Given the description of an element on the screen output the (x, y) to click on. 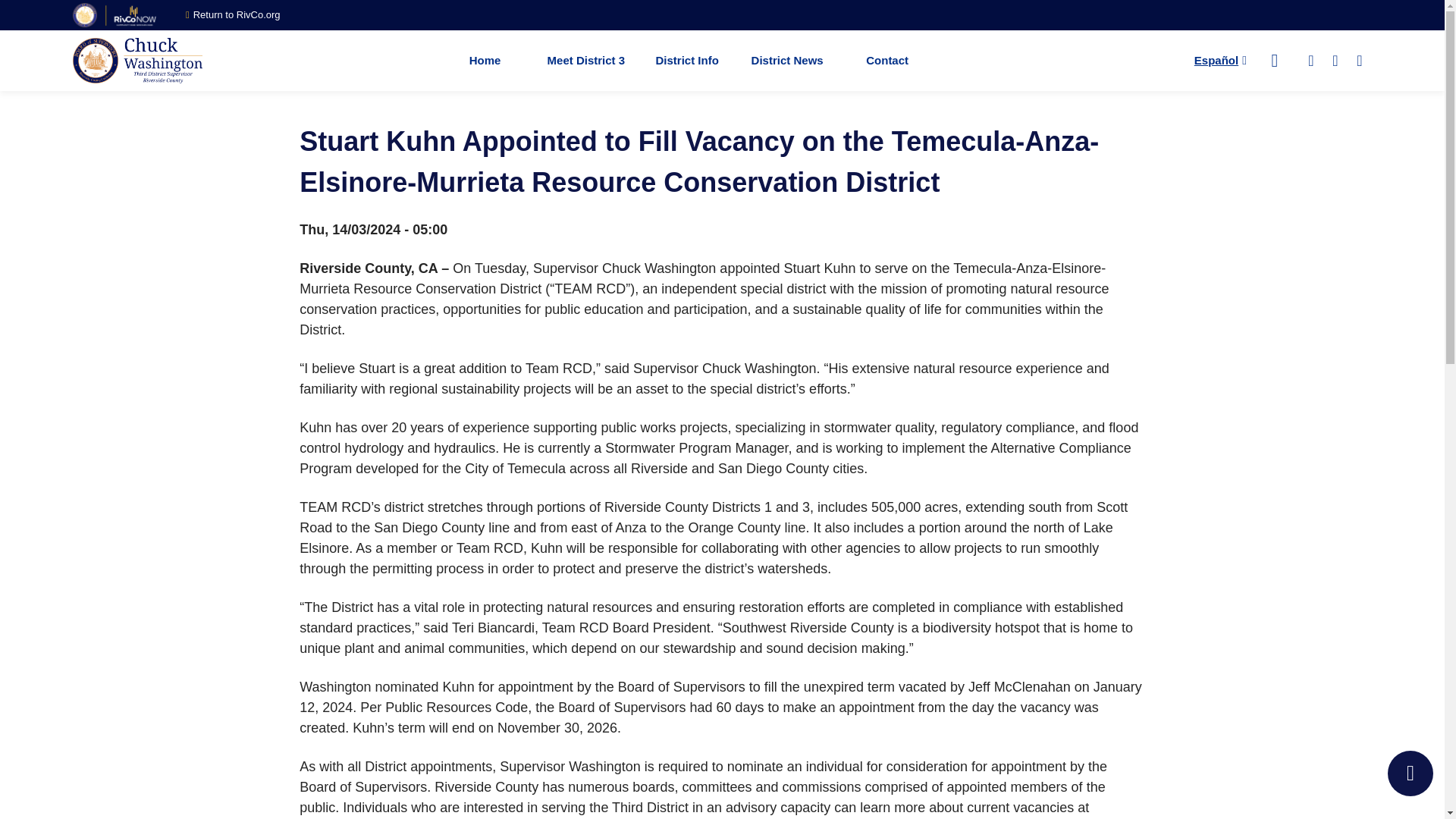
Home (484, 60)
District News (787, 60)
Contact (886, 60)
Return to RivCo.org (233, 14)
District Info (687, 60)
Meet District 3 (586, 60)
